Given the description of an element on the screen output the (x, y) to click on. 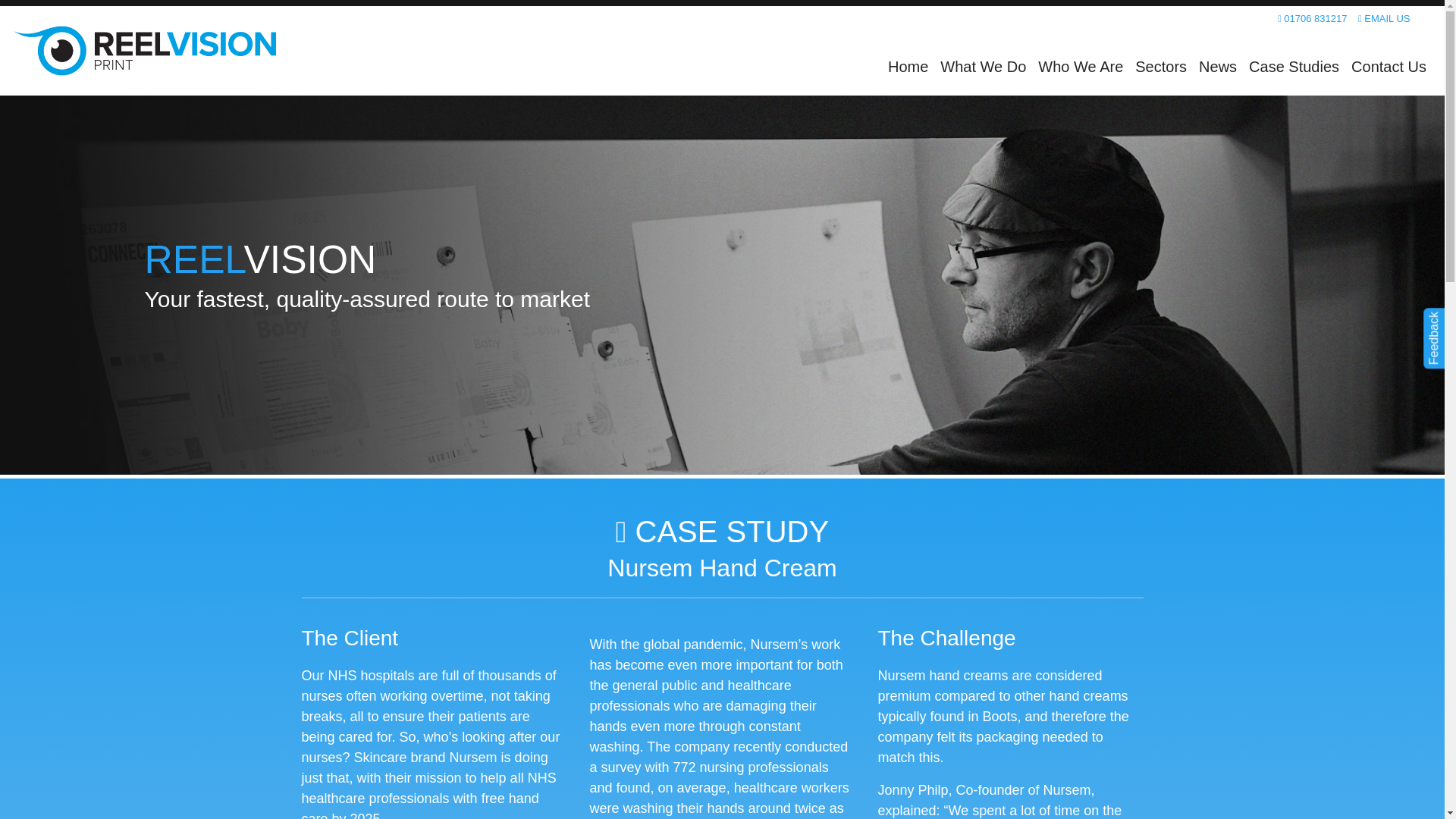
Reelvision Print (144, 51)
Case Studies (1294, 66)
01706 831217 (1313, 18)
EMAIL US (1384, 18)
What We Do (983, 66)
Home (908, 66)
Contact Us (1388, 66)
News (1217, 66)
Sectors (1160, 66)
Reelvision Print (144, 50)
Who We Are (1080, 66)
